Given the description of an element on the screen output the (x, y) to click on. 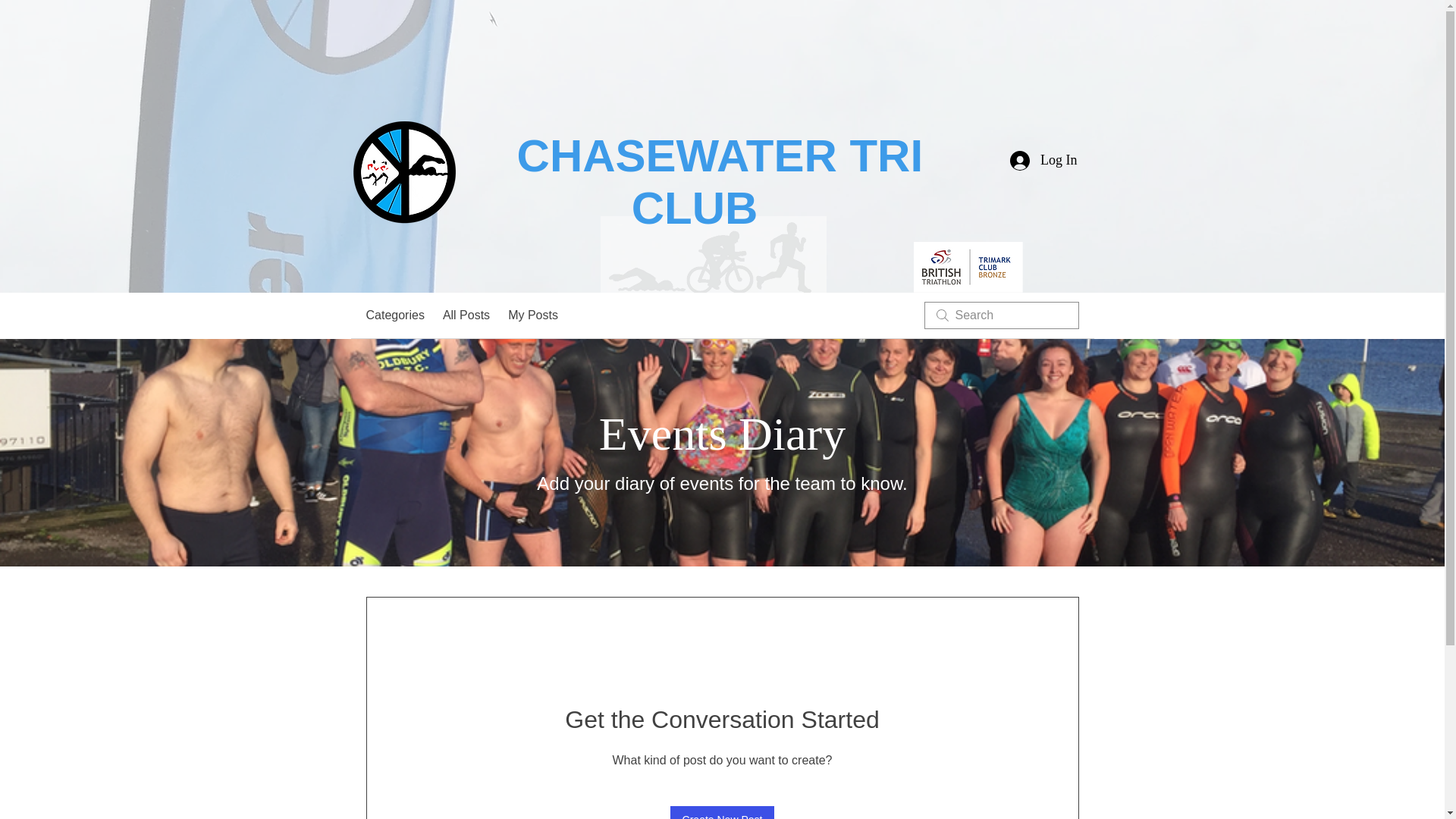
All Posts (465, 315)
Log In (1042, 159)
Categories (394, 315)
My Posts (532, 315)
Create New Post (721, 812)
